Given the description of an element on the screen output the (x, y) to click on. 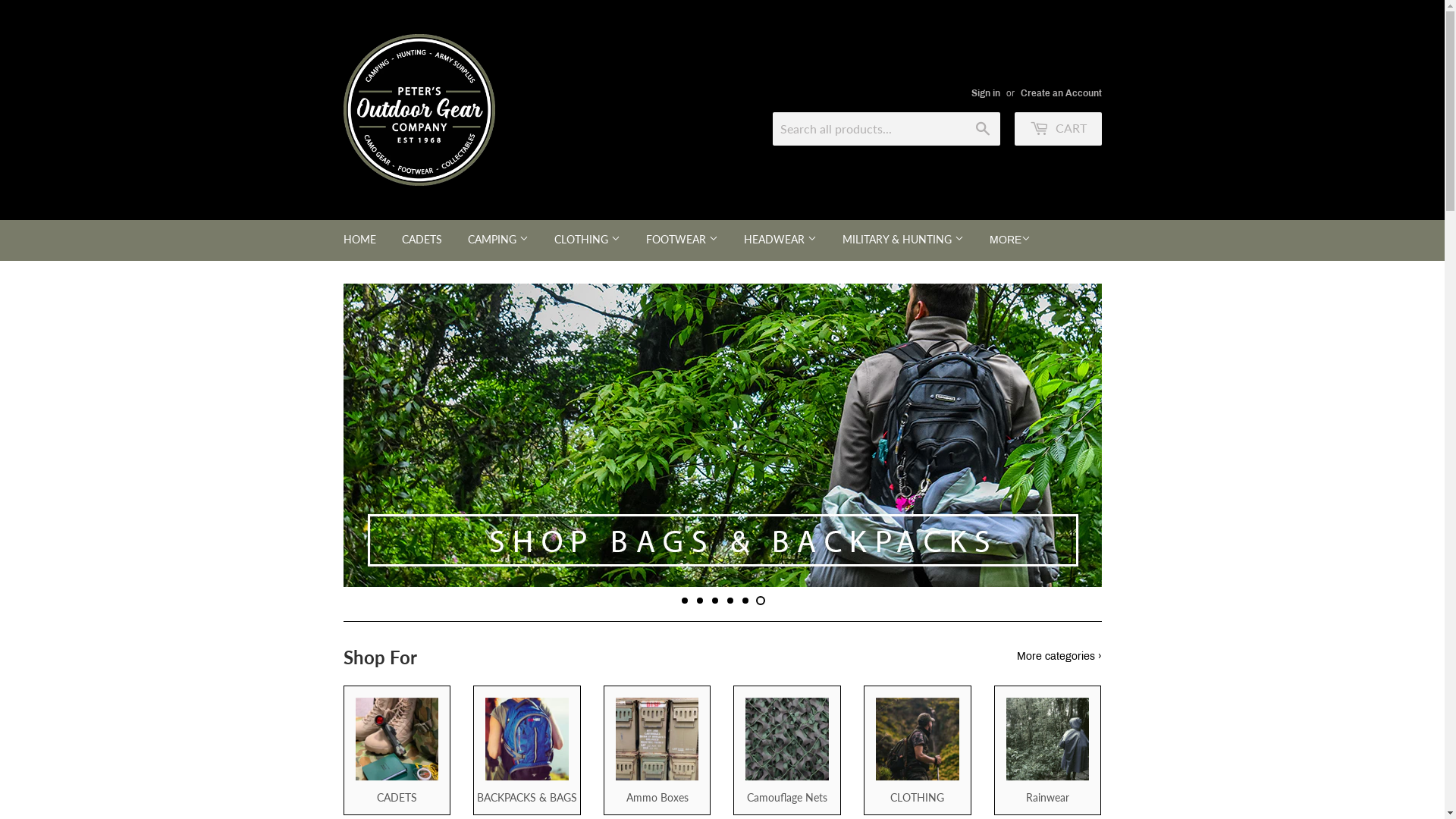
6 Element type: text (759, 600)
BACKPACKS & BAGS Element type: text (526, 750)
CLOTHING Element type: text (586, 239)
MORE Element type: text (1009, 240)
Camouflage Nets Element type: text (786, 750)
CLOTHING Element type: text (917, 750)
HOME Element type: text (359, 239)
FOOTWEAR Element type: text (680, 239)
2 Element type: text (698, 600)
5 Element type: text (744, 600)
Search Element type: text (983, 129)
Sign in Element type: text (984, 92)
Rainwear Element type: text (1047, 750)
CAMPING Element type: text (497, 239)
3 Element type: text (713, 600)
CADETS Element type: text (420, 239)
MILITARY & HUNTING Element type: text (903, 239)
CADETS Element type: text (396, 750)
HEADWEAR Element type: text (780, 239)
4 Element type: text (729, 600)
1 Element type: text (683, 600)
Create an Account Element type: text (1060, 92)
Ammo Boxes Element type: text (657, 750)
CART Element type: text (1057, 128)
